Given the description of an element on the screen output the (x, y) to click on. 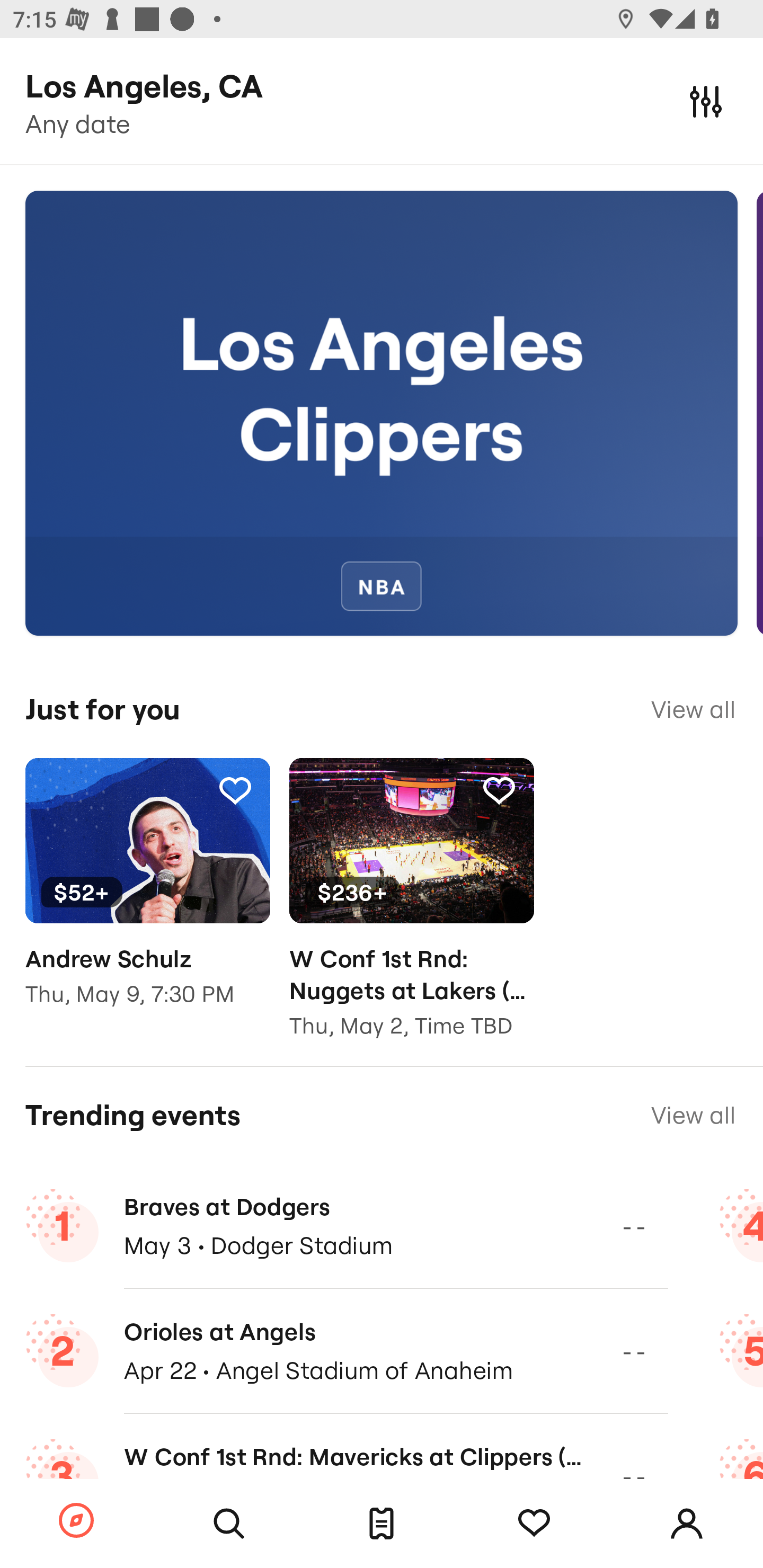
Filters (705, 100)
View all (693, 709)
Tracking $52+ Andrew Schulz Thu, May 9, 7:30 PM (147, 895)
Tracking (234, 790)
Tracking (498, 790)
View all (693, 1114)
Browse (76, 1521)
Search (228, 1523)
Tickets (381, 1523)
Tracking (533, 1523)
Account (686, 1523)
